Given the description of an element on the screen output the (x, y) to click on. 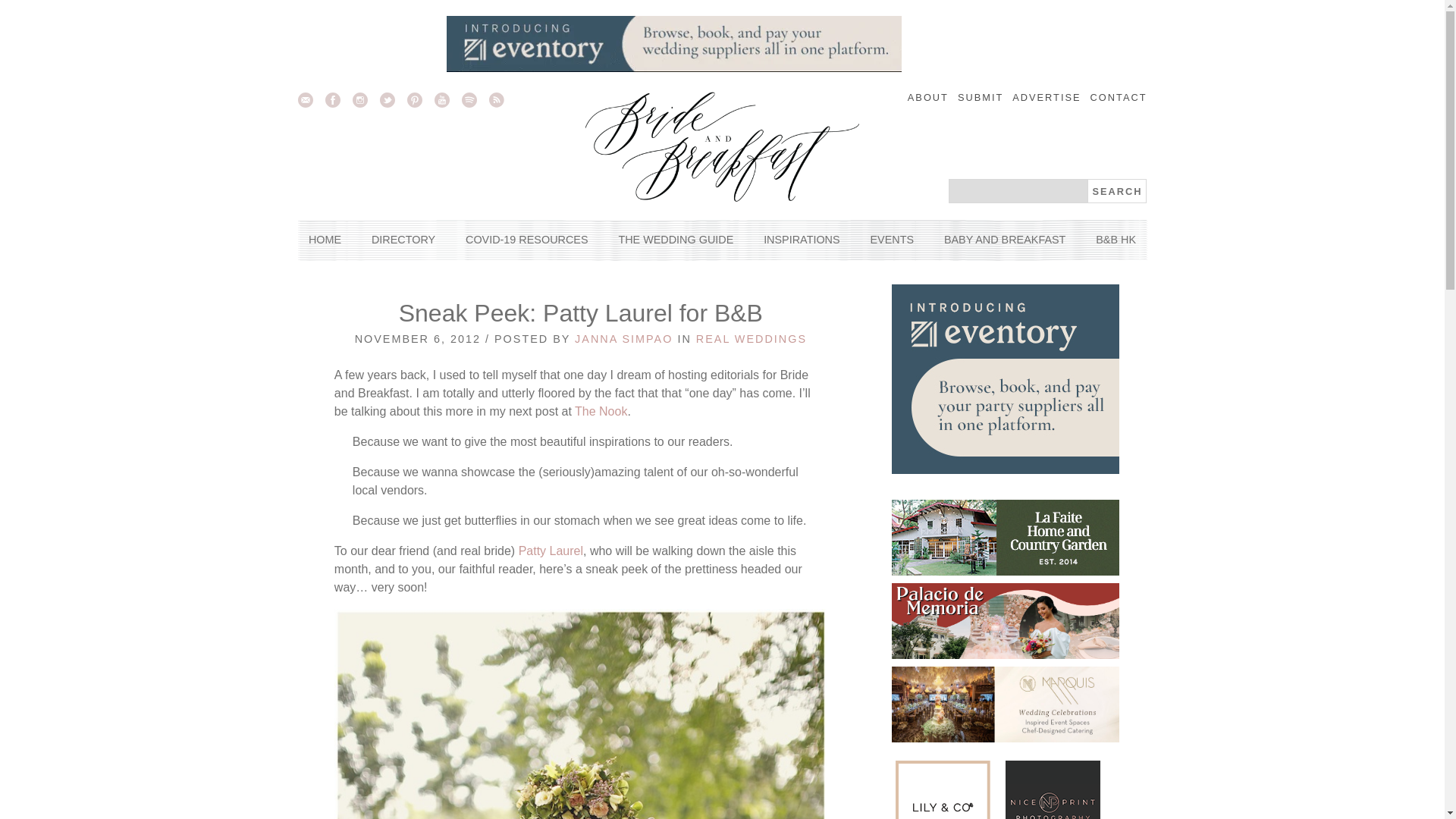
SUBMIT (980, 97)
ABOUT (928, 97)
Search (1116, 191)
Posts by Janna Simpao (623, 338)
HOME (324, 239)
Search (1116, 191)
ADVERTISE (1045, 97)
CONTACT (1118, 97)
The Nook (601, 410)
Patty Laurel (550, 550)
